Given the description of an element on the screen output the (x, y) to click on. 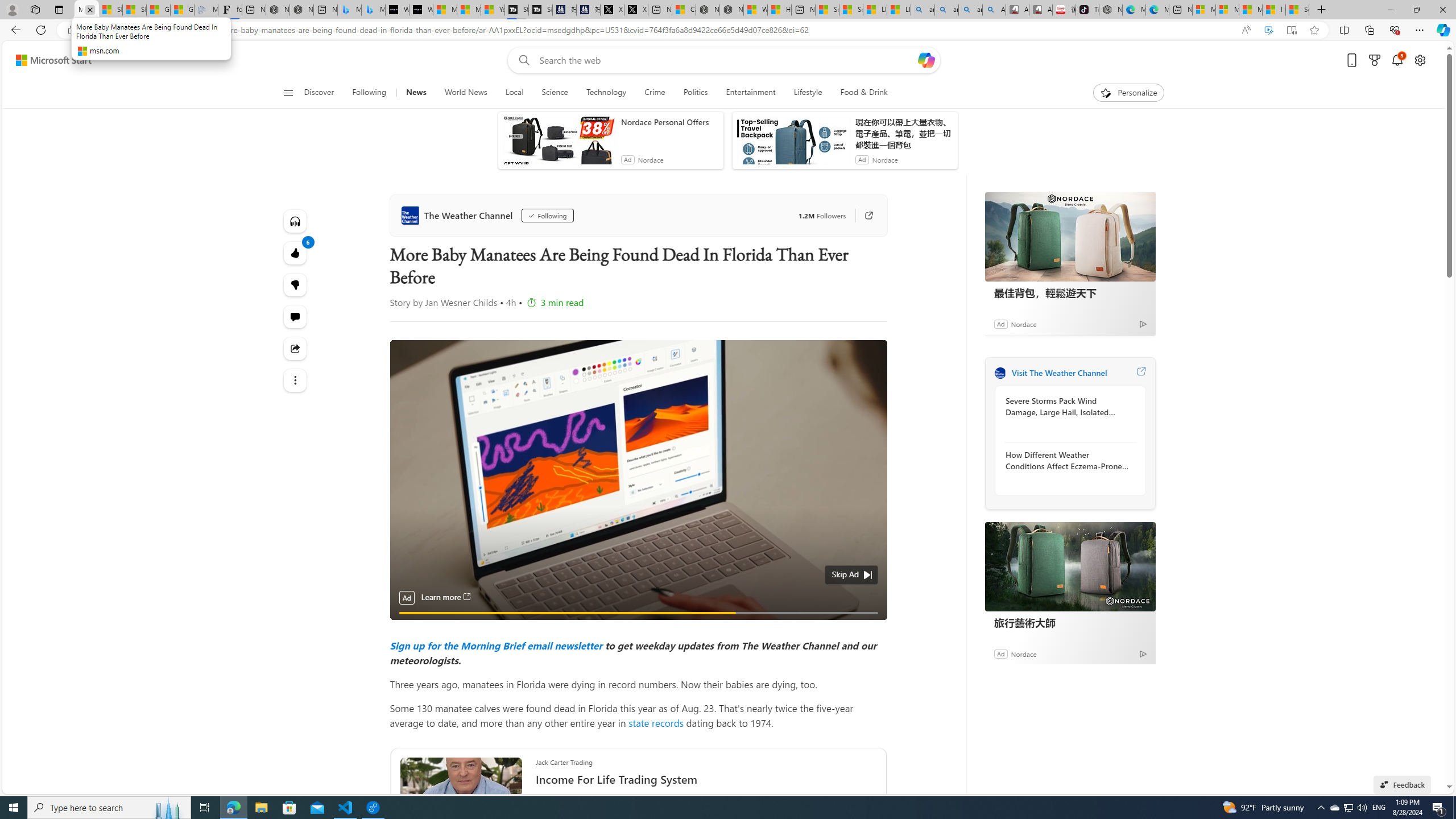
Pause (406, 626)
X (635, 9)
The Weather Channel (458, 215)
Read aloud this page (Ctrl+Shift+U) (1245, 29)
New Tab (1321, 9)
amazon - Search Images (970, 9)
state records (656, 721)
Share this story (295, 348)
News (415, 92)
Food & Drink (859, 92)
Collections (1369, 29)
More like this6Fewer like thisStart the conversation (295, 284)
